Given the description of an element on the screen output the (x, y) to click on. 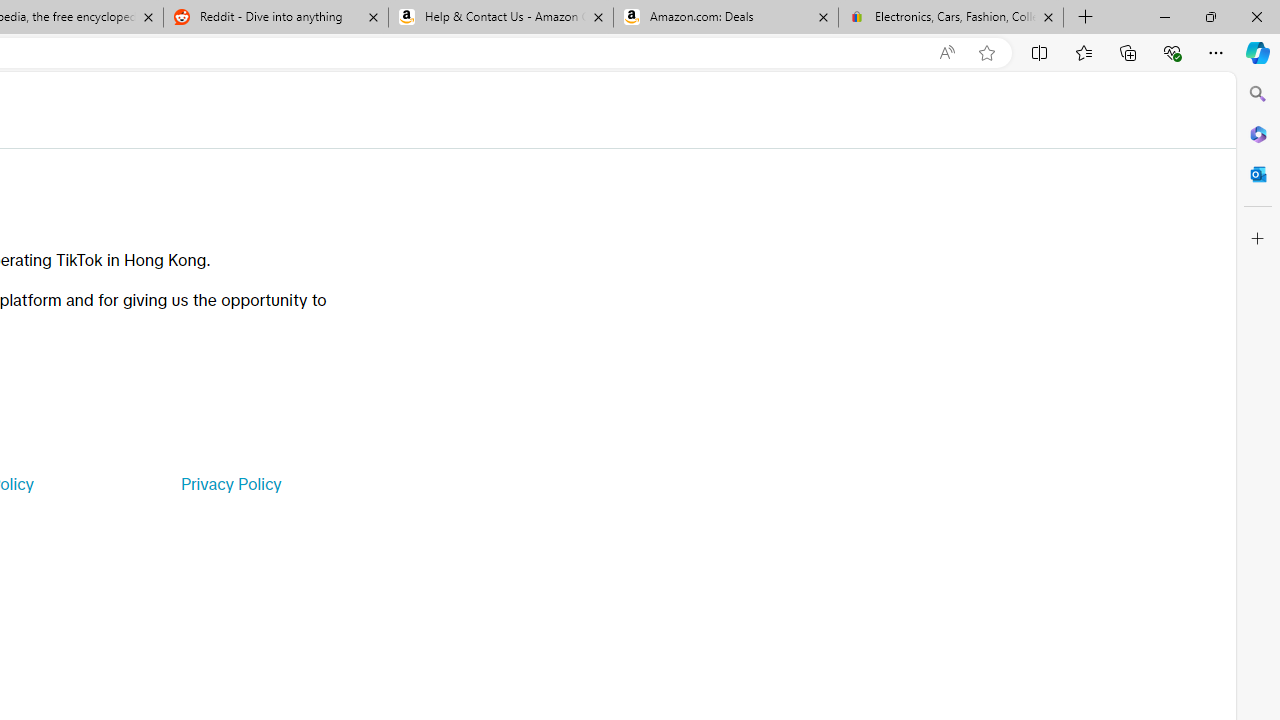
Amazon.com: Deals (726, 17)
